Given the description of an element on the screen output the (x, y) to click on. 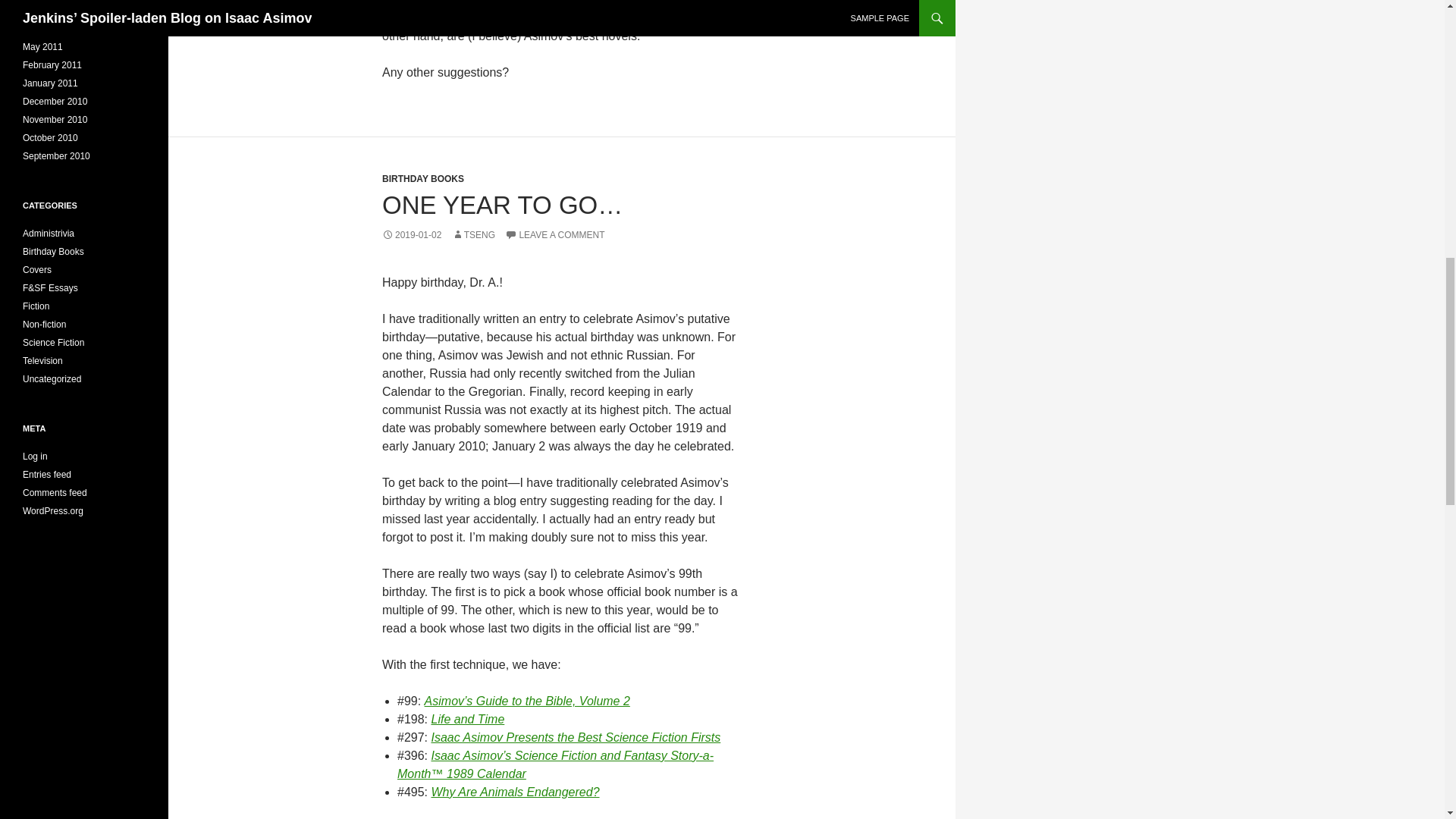
Why Are Animals Endangered? (514, 791)
Isaac Asimov Presents the Best Science Fiction Firsts (575, 737)
LEAVE A COMMENT (554, 235)
BIRTHDAY BOOKS (422, 178)
Life and Time (466, 718)
TSENG (473, 235)
2019-01-02 (411, 235)
